Given the description of an element on the screen output the (x, y) to click on. 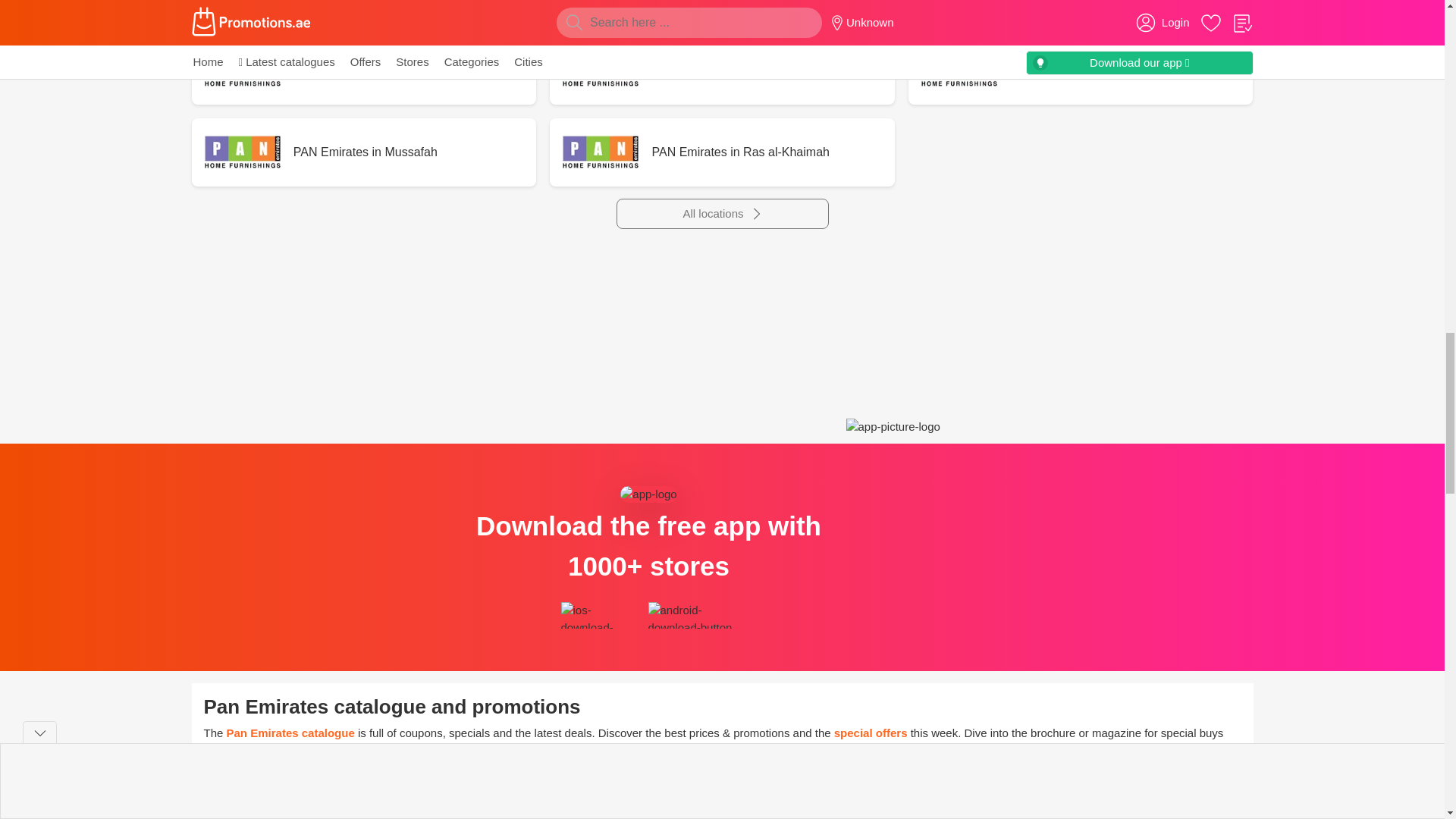
All locations (721, 214)
